Given the description of an element on the screen output the (x, y) to click on. 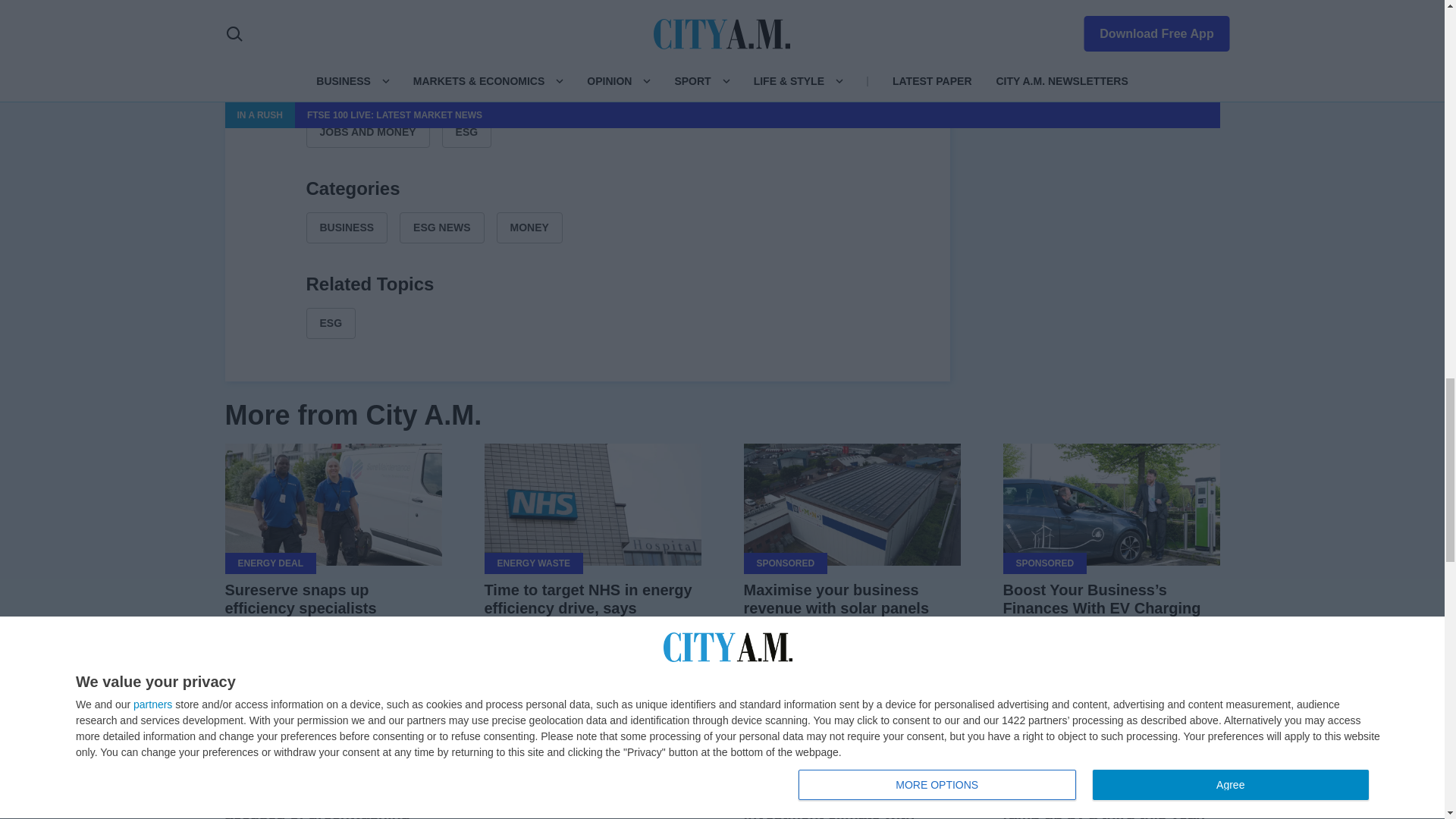
LinkedIn (586, 43)
WhatsApp (622, 43)
X (550, 43)
Facebook (513, 43)
Email (659, 43)
